Given the description of an element on the screen output the (x, y) to click on. 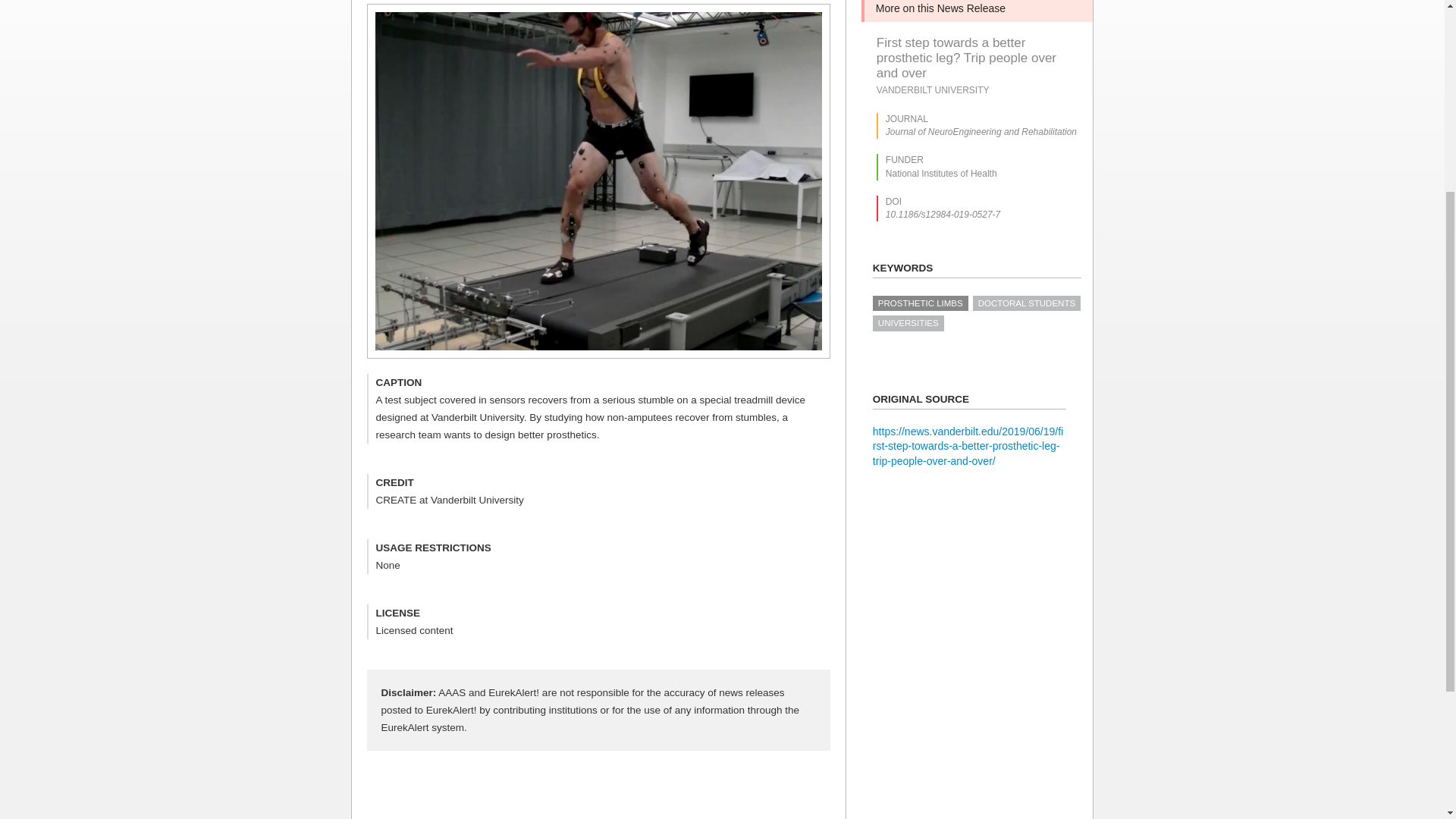
PROSTHETIC LIMBS (920, 303)
UNIVERSITIES (907, 322)
DOCTORAL STUDENTS (1026, 303)
